Given the description of an element on the screen output the (x, y) to click on. 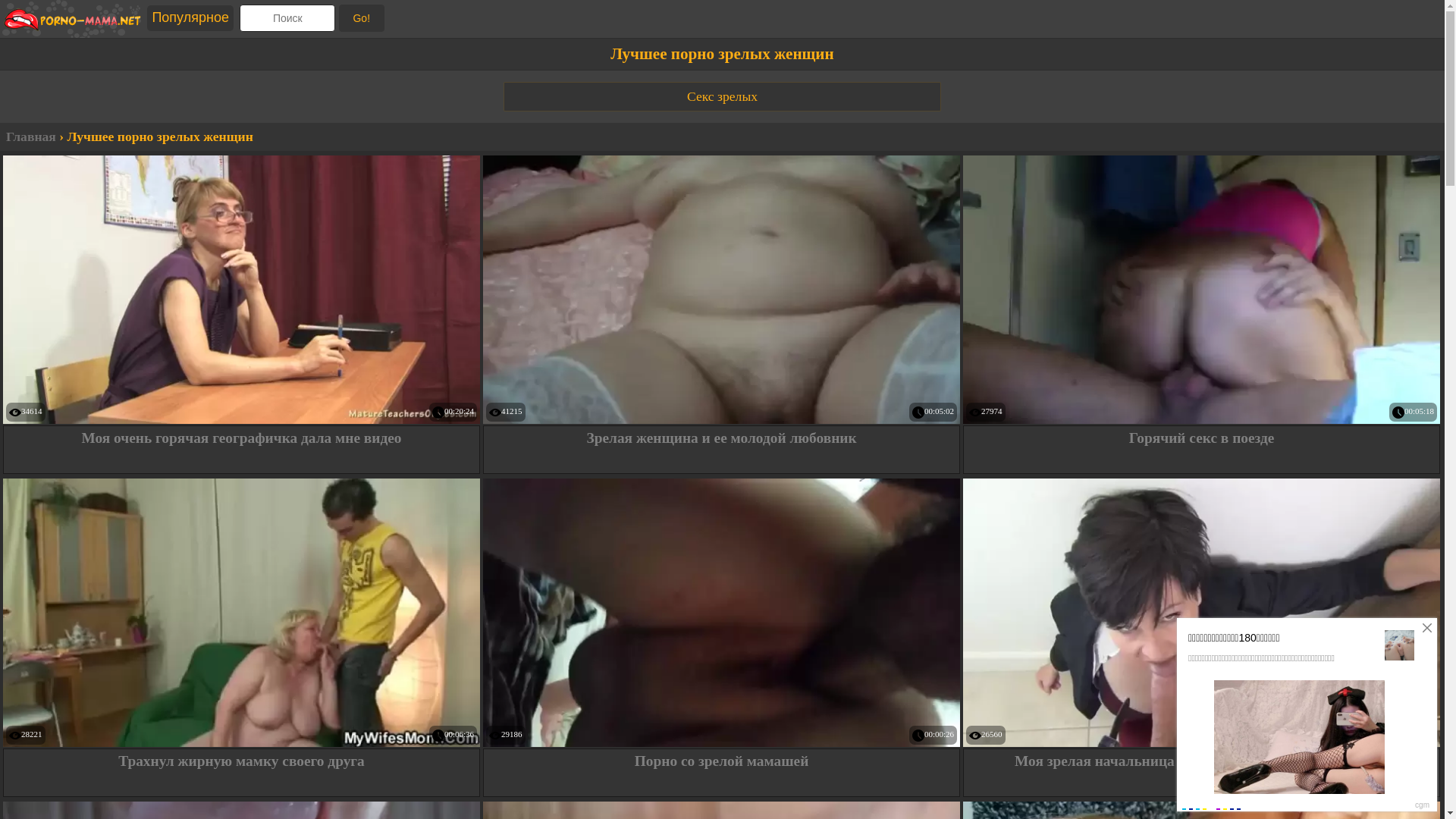
Go! Element type: text (361, 17)
